Given the description of an element on the screen output the (x, y) to click on. 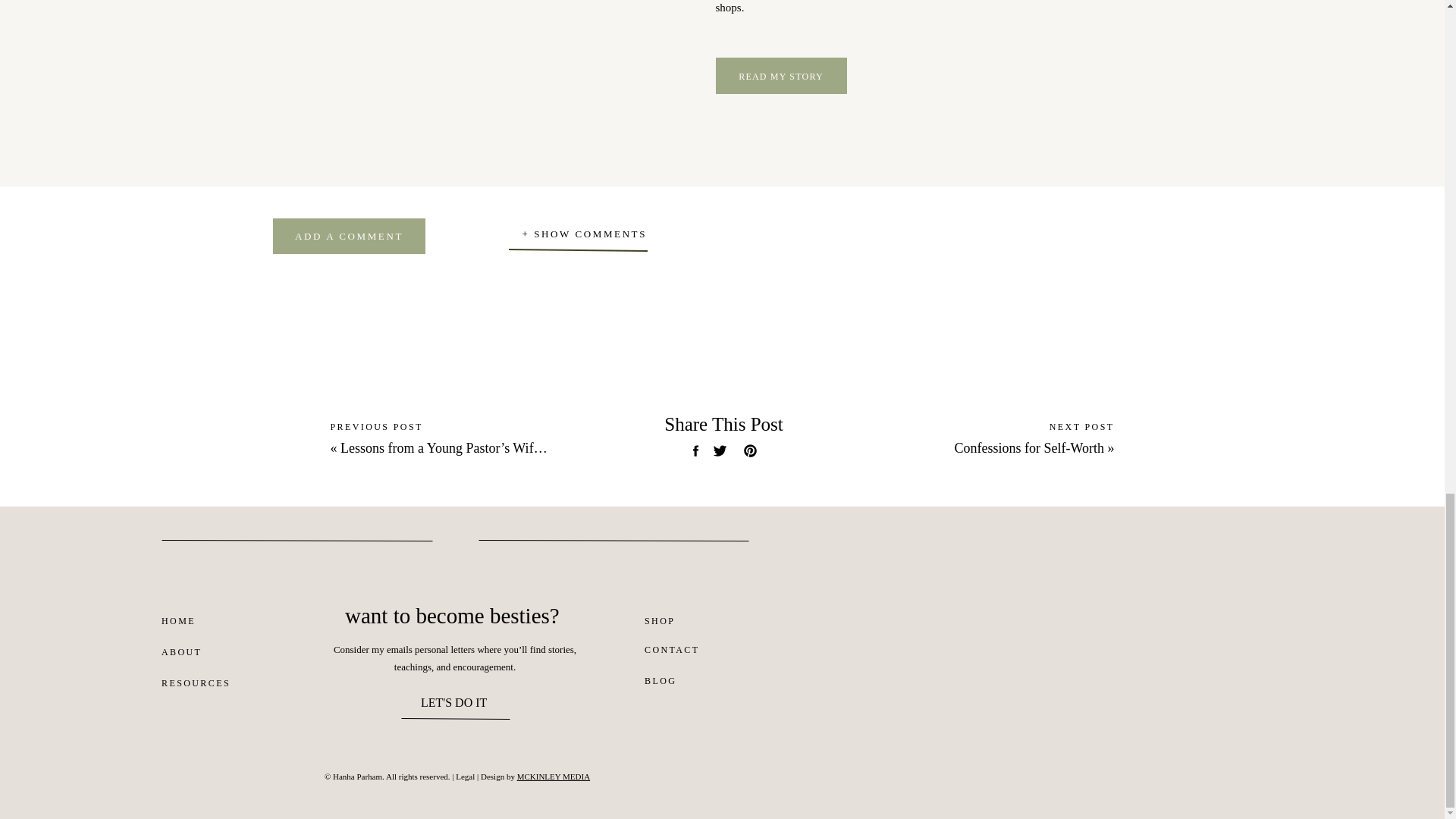
HOME (189, 624)
READ MY STORY (780, 76)
ABOUT (182, 655)
RESOURCES (195, 686)
Share This Post (723, 426)
Confessions for Self-Worth (1028, 447)
